Given the description of an element on the screen output the (x, y) to click on. 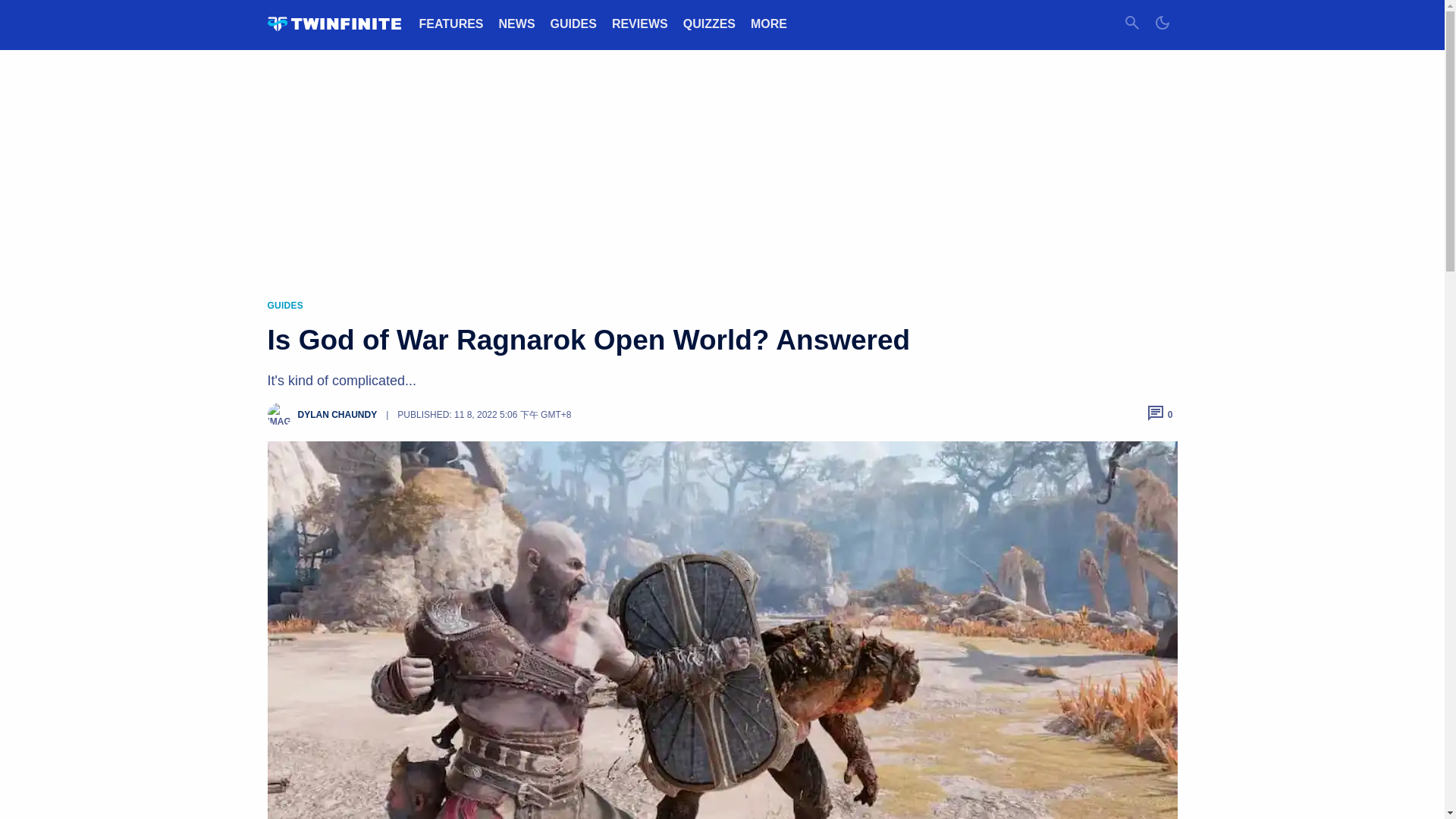
REVIEWS (639, 23)
FEATURES (451, 23)
GUIDES (573, 23)
NEWS (517, 23)
Dark Mode (1161, 23)
Search (1131, 23)
QUIZZES (708, 23)
